Given the description of an element on the screen output the (x, y) to click on. 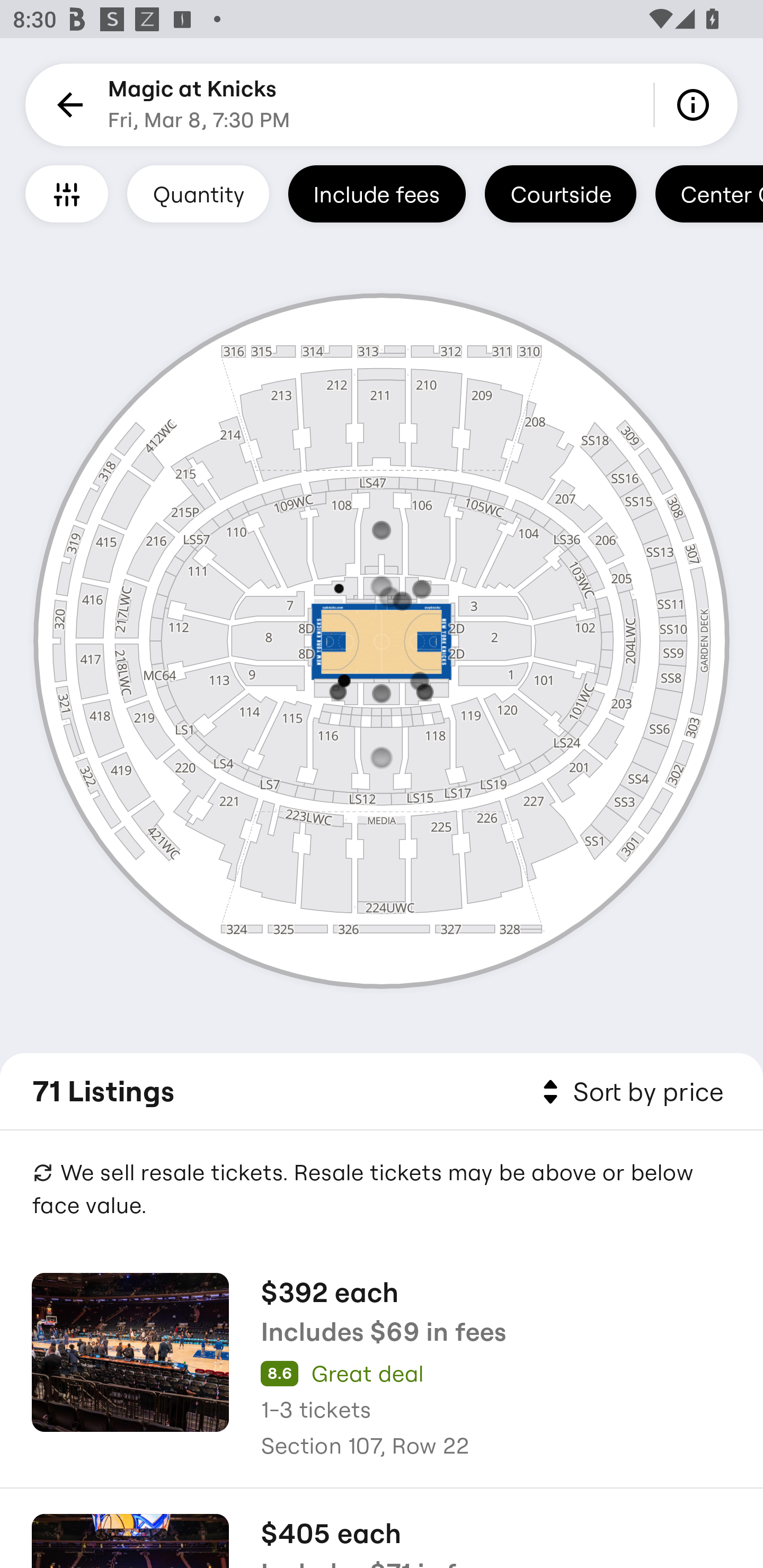
Back (66, 104)
Magic at Knicks Fri, Mar 8, 7:30 PM (198, 104)
Info (695, 104)
Filters and Accessible Seating (66, 193)
Quantity (198, 193)
Include fees (376, 193)
Courtside (560, 193)
Sort by price (629, 1091)
